Given the description of an element on the screen output the (x, y) to click on. 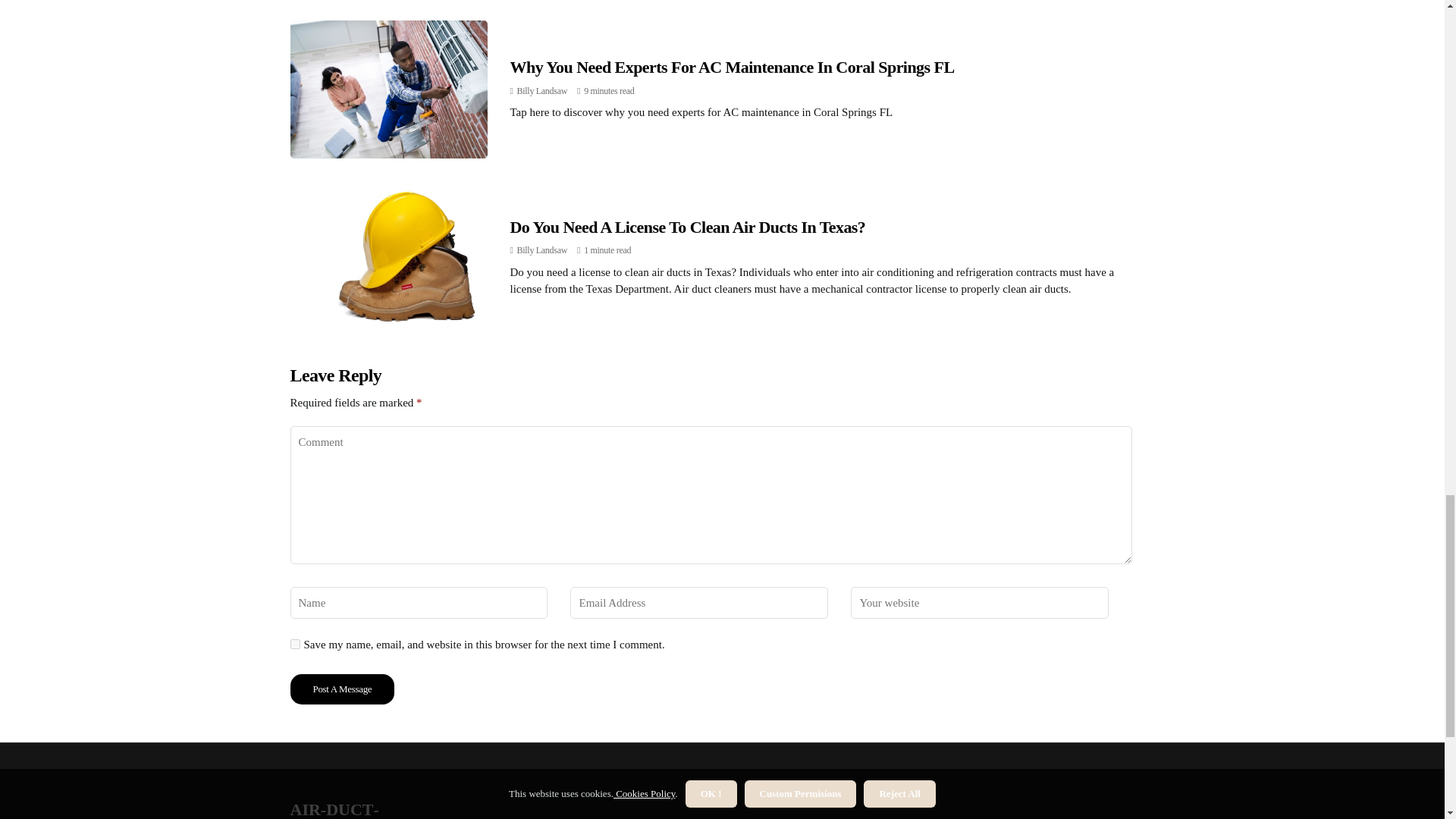
yes (294, 644)
Do You Need A License To Clean Air Ducts In Texas? (686, 226)
Post a Message (341, 689)
Posts by Billy Landsaw (541, 90)
Billy Landsaw (541, 249)
Post a Message (341, 689)
Why You Need Experts For AC Maintenance In Coral Springs FL (731, 66)
Billy Landsaw (541, 90)
Posts by Billy Landsaw (541, 249)
